Given the description of an element on the screen output the (x, y) to click on. 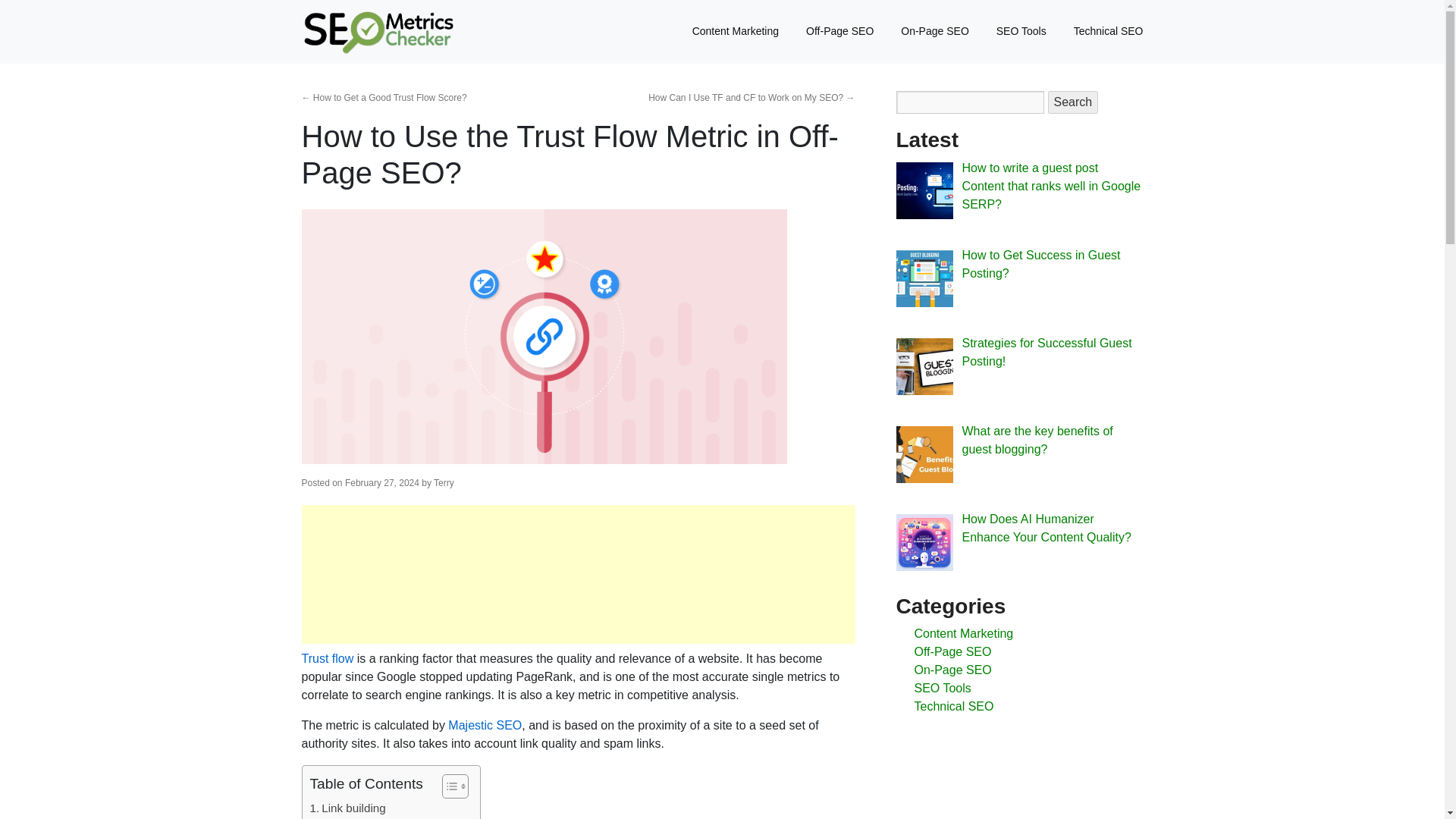
Search (1073, 101)
Terry (443, 482)
10:55 am (382, 482)
Link building (346, 808)
Content marketing (361, 818)
Technical SEO (1100, 31)
Content Marketing (735, 31)
On-Page SEO (934, 31)
View all posts by Terry (443, 482)
Strategies for Successful Guest Posting! (1045, 351)
Content marketing (361, 818)
How to Get Success in Guest Posting? (1039, 264)
Trust flow (327, 658)
Advertisement (578, 574)
